Given the description of an element on the screen output the (x, y) to click on. 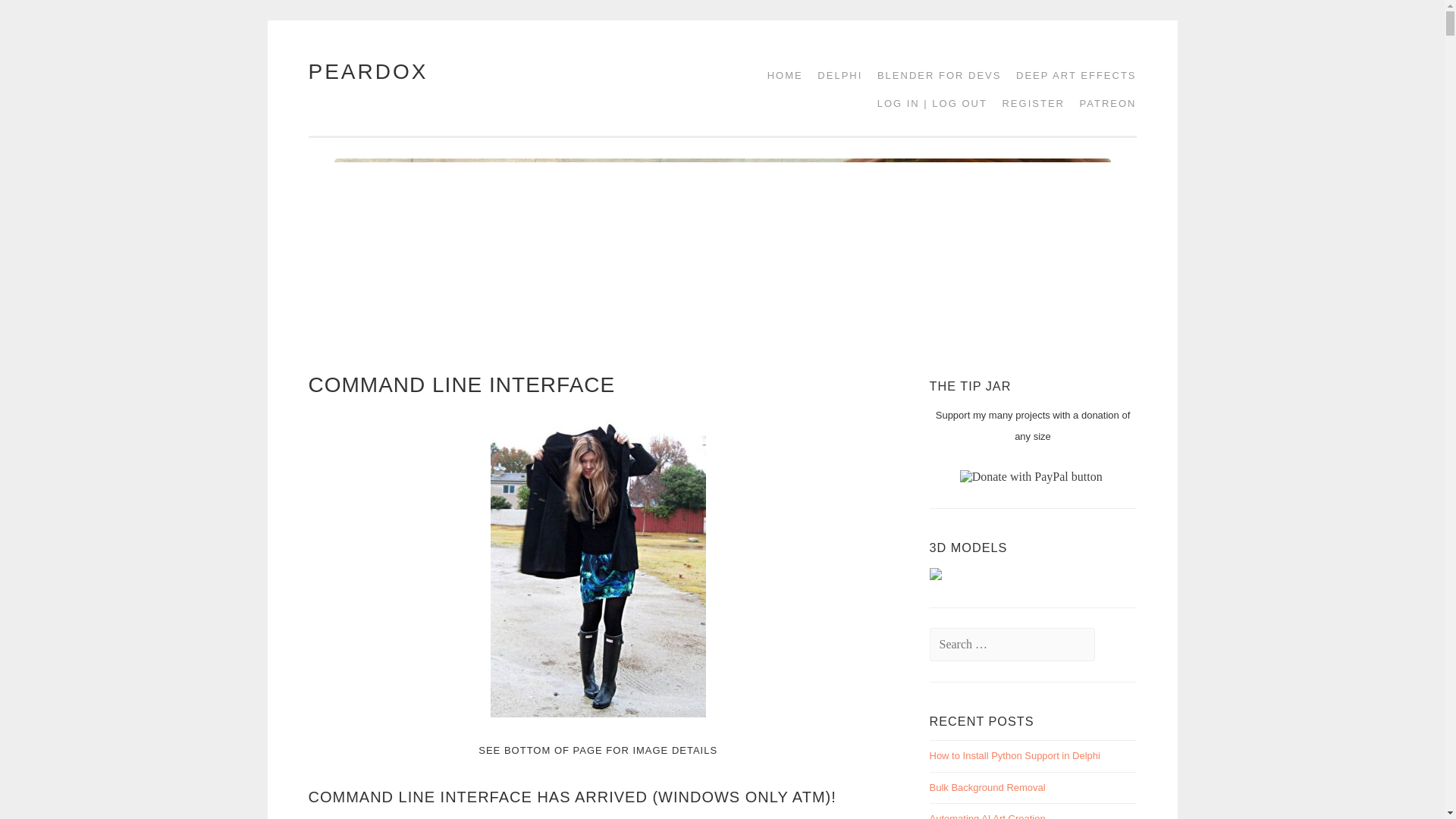
BLENDER FOR DEVS (933, 75)
PEARDOX (367, 71)
HOME (780, 75)
DEEP ART EFFECTS (1070, 75)
PATREON (1102, 103)
REGISTER (1027, 103)
DELPHI (833, 75)
